Given the description of an element on the screen output the (x, y) to click on. 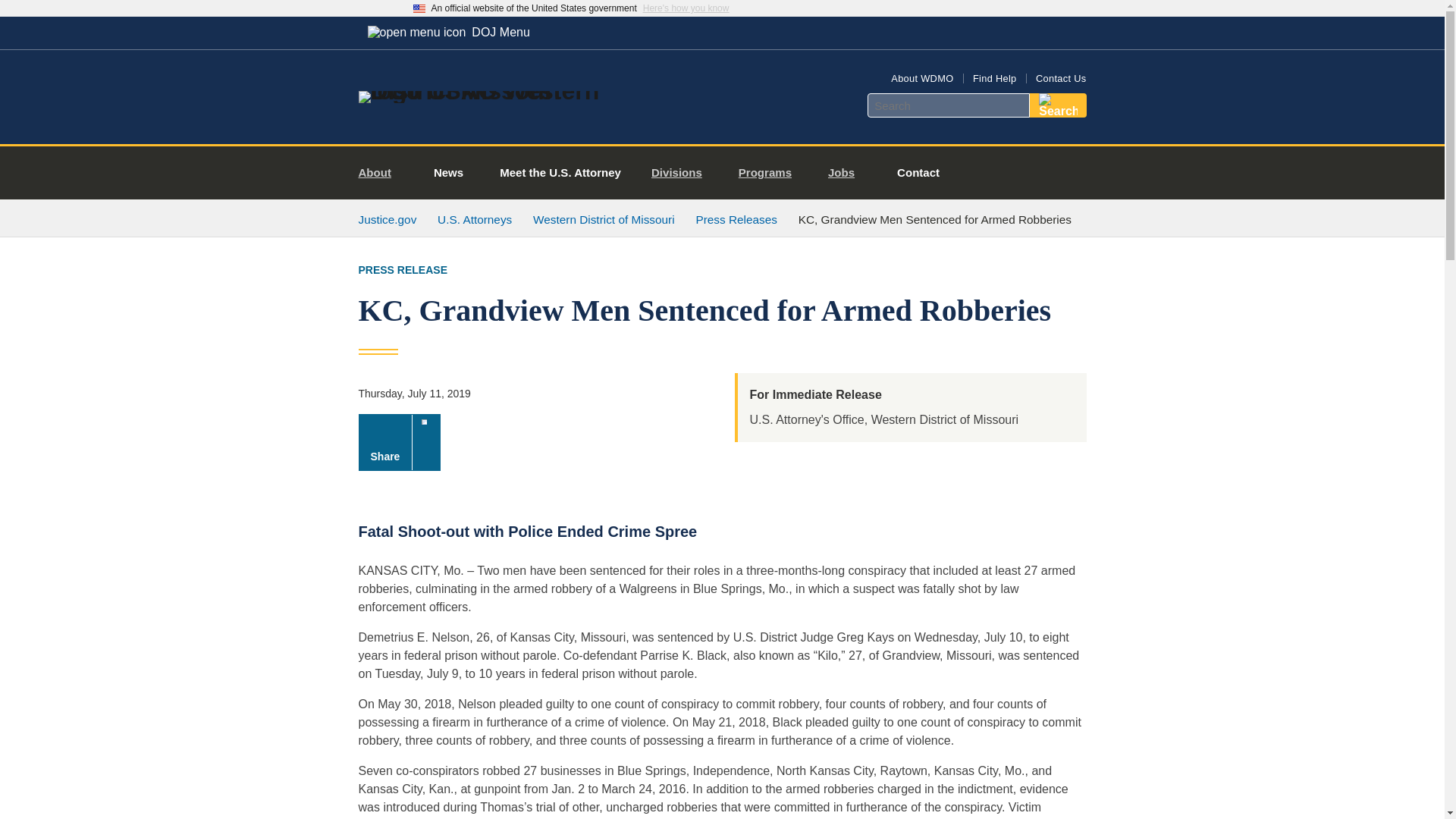
Here's how you know (686, 8)
About (380, 172)
Contact (918, 172)
Share (398, 442)
Jobs (847, 172)
Home (481, 90)
About WDMO (922, 78)
Find Help (994, 78)
Justice.gov (387, 219)
U.S. Attorneys (475, 219)
Meet the U.S. Attorney (560, 172)
Press Releases (736, 219)
Divisions (682, 172)
DOJ Menu (448, 32)
Programs (770, 172)
